Given the description of an element on the screen output the (x, y) to click on. 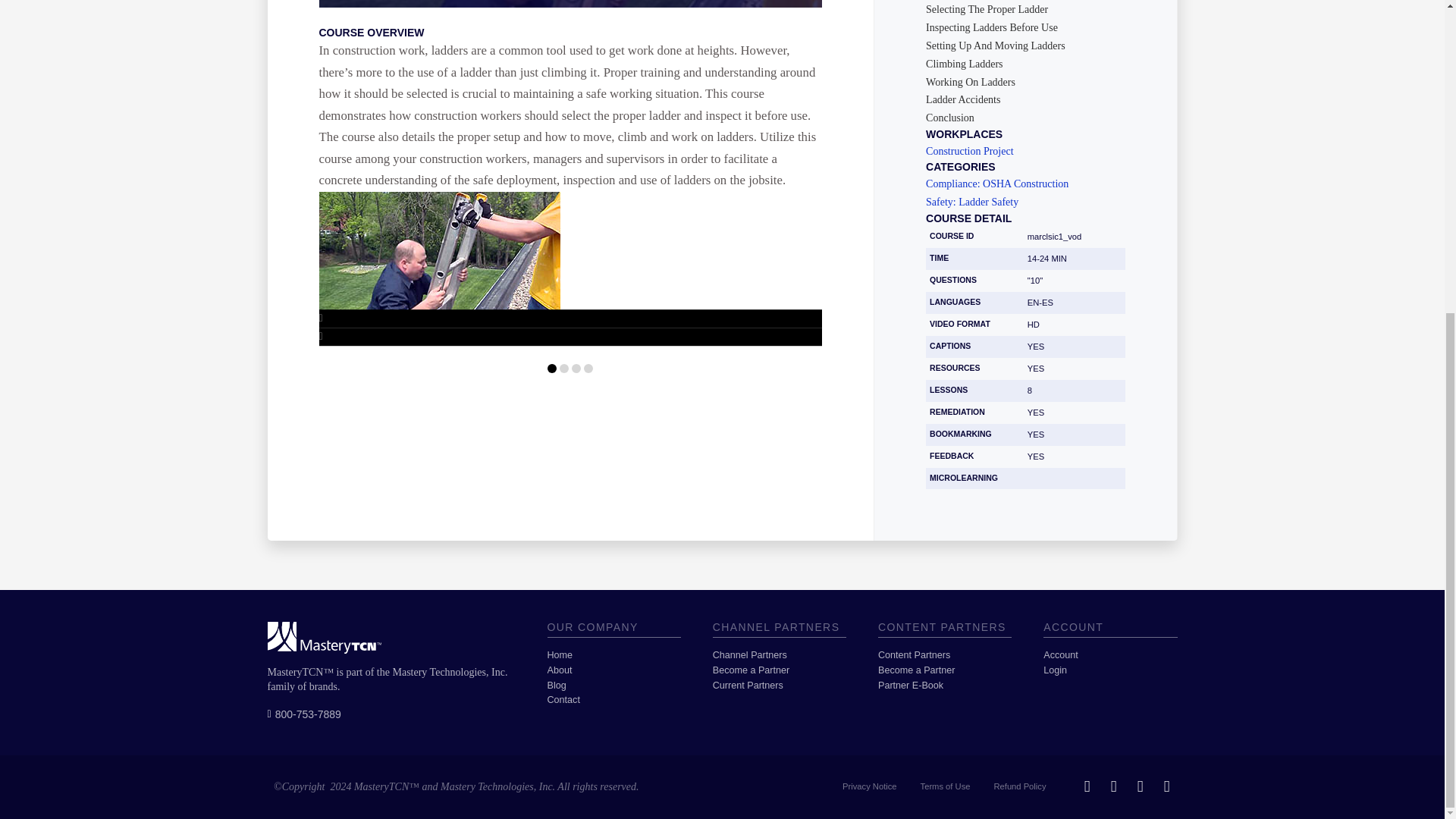
Partner E-Book (944, 685)
Safety: Ladder Safety (1025, 202)
About (614, 670)
800-753-7889 (303, 714)
Account (1109, 655)
Privacy Notice (869, 787)
Compliance: OSHA Construction (1025, 184)
Login (1109, 670)
Content Partners (944, 655)
Construction Project (1025, 151)
